Given the description of an element on the screen output the (x, y) to click on. 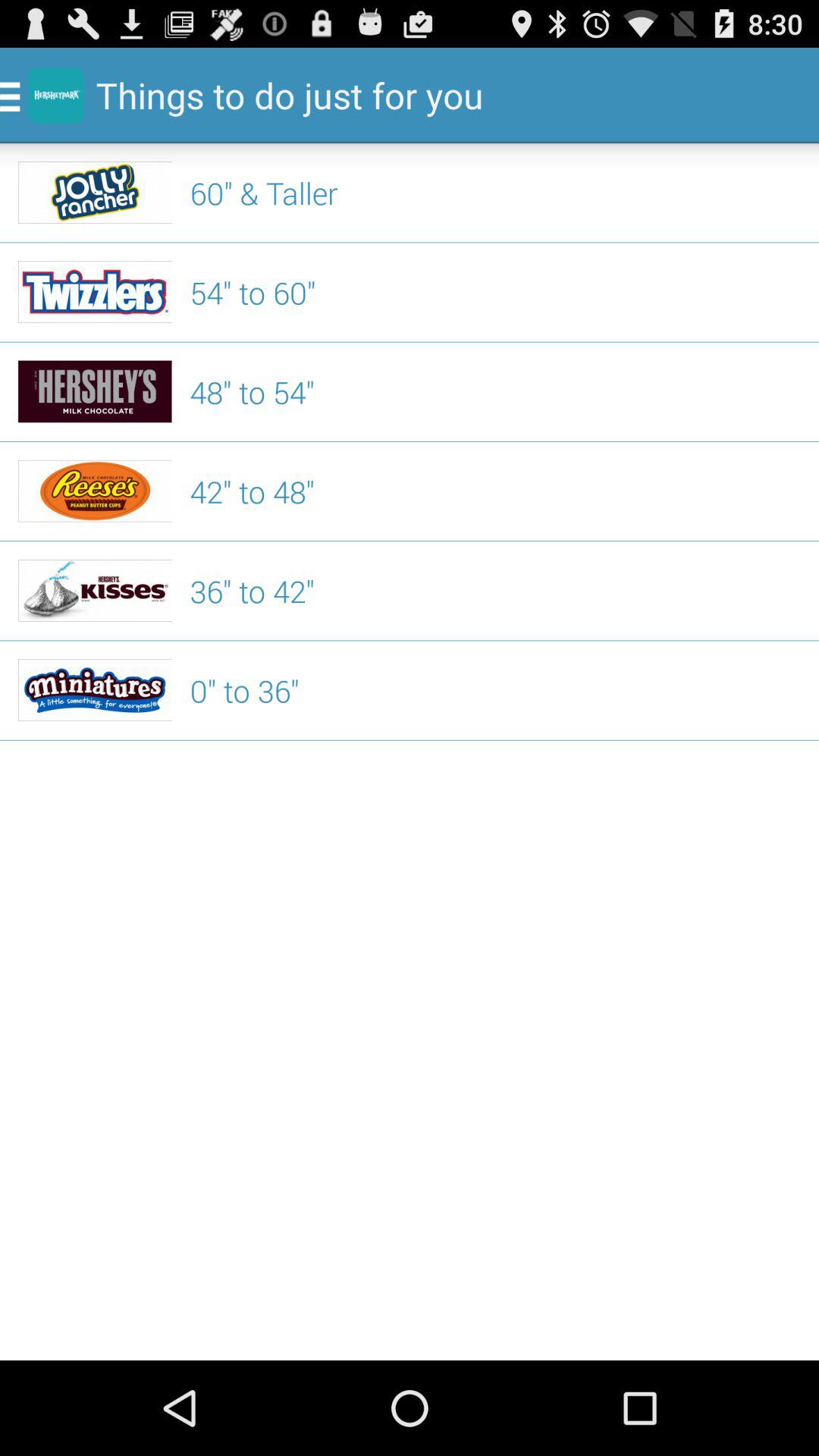
launch the item above the 54" to 60" (494, 192)
